Given the description of an element on the screen output the (x, y) to click on. 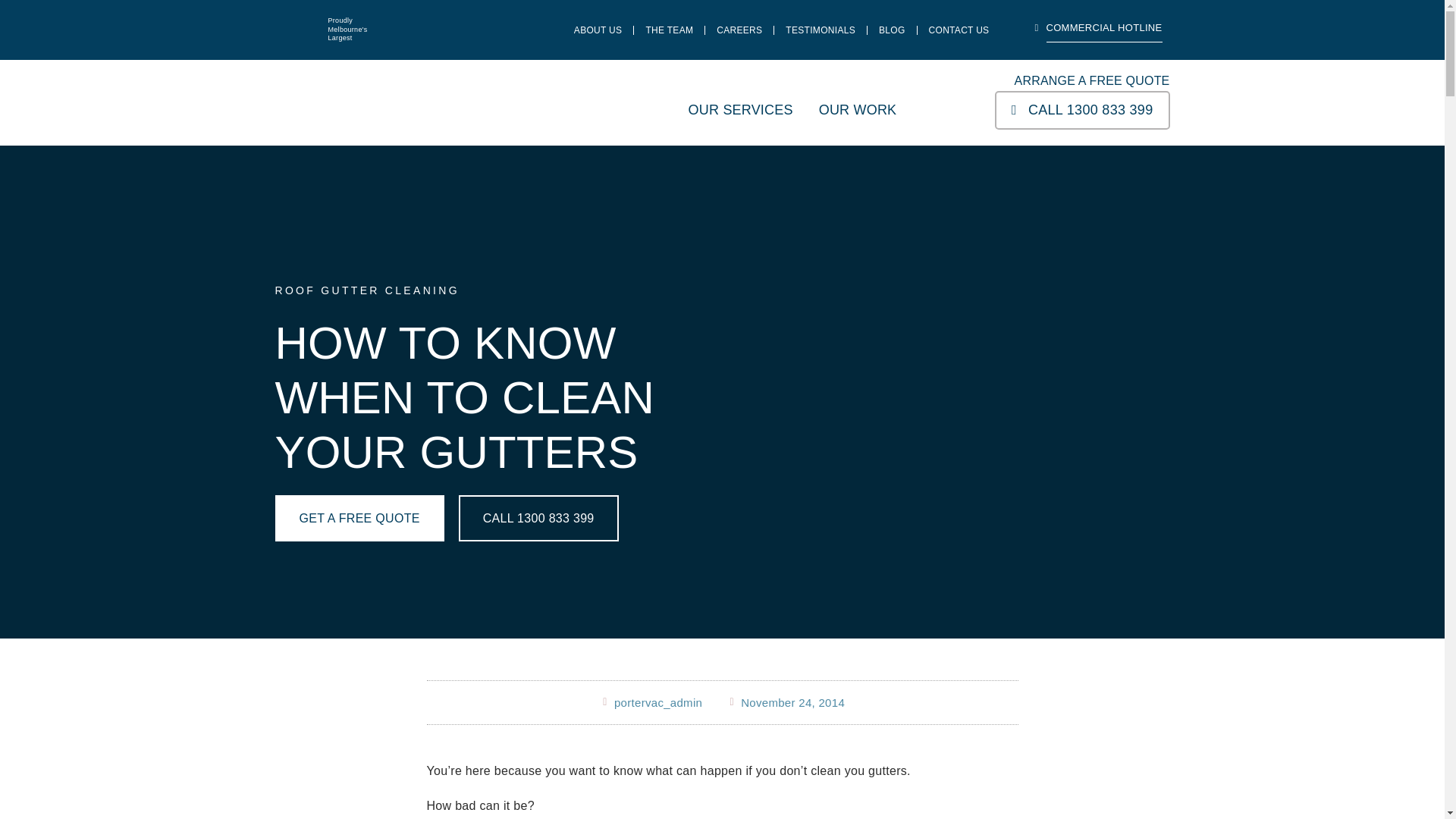
BLOG (892, 30)
OUR WORK (857, 109)
CAREERS (738, 30)
OUR SERVICES (740, 109)
TESTIMONIALS (821, 30)
CONTACT US (959, 30)
COMMERCIAL HOTLINE (1097, 30)
THE TEAM (669, 30)
ABOUT US (598, 30)
